Given the description of an element on the screen output the (x, y) to click on. 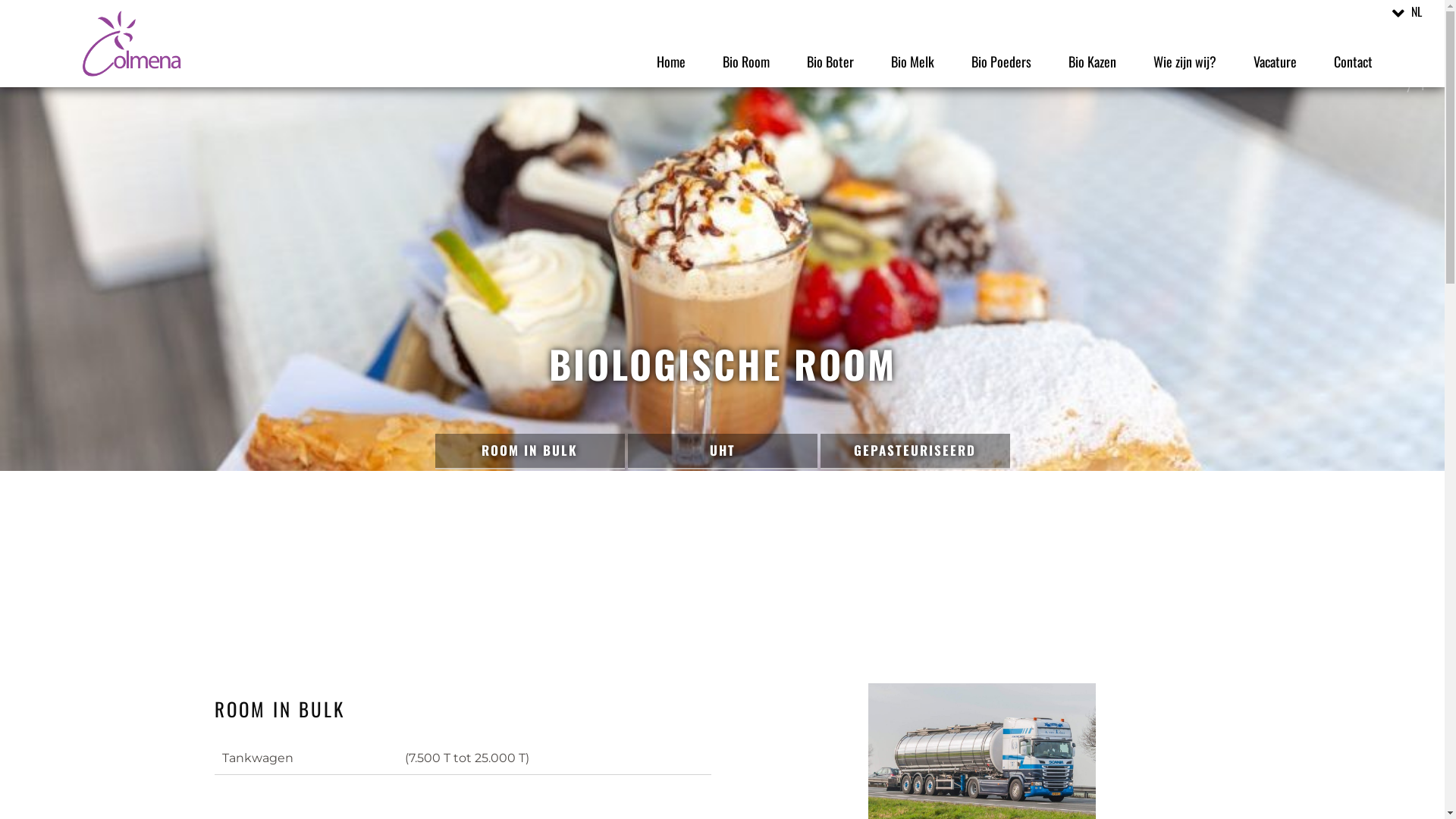
Bio Boter Element type: text (829, 61)
Home Element type: text (670, 61)
GEPASTEURISEERD Element type: text (915, 450)
Bio Poeders Element type: text (1001, 61)
Bio Kazen Element type: text (1092, 61)
biologische_room Element type: hover (722, 261)
NL Element type: text (1408, 10)
Wie zijn wij? Element type: text (1184, 61)
UHT Element type: text (722, 450)
Vacature Element type: text (1274, 61)
Bio Room Element type: text (745, 61)
Bio Melk Element type: text (912, 61)
ROOM IN BULK Element type: text (529, 450)
Contact Element type: text (1352, 61)
